Given the description of an element on the screen output the (x, y) to click on. 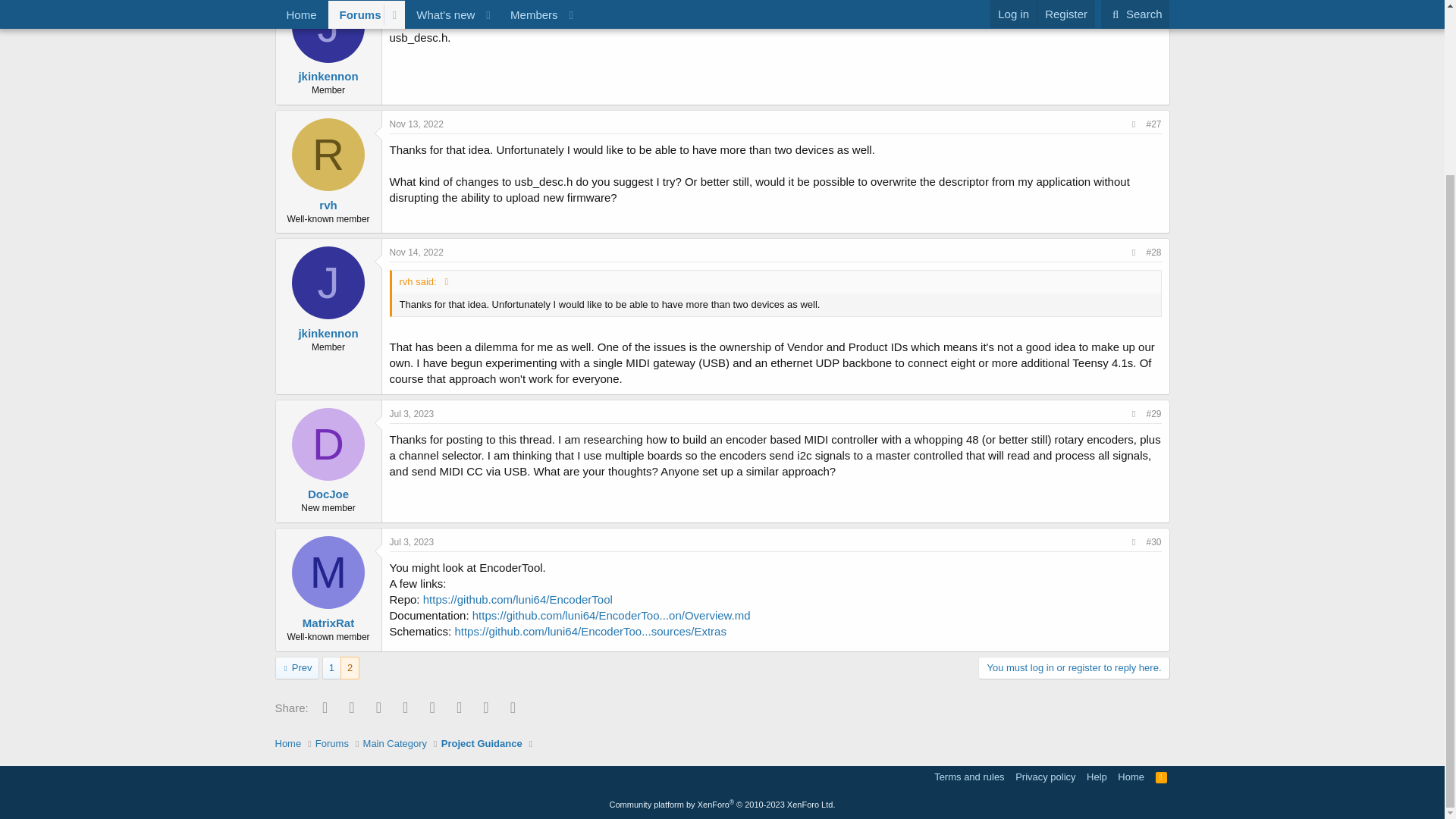
Nov 13, 2022 at 3:16 PM (417, 123)
Nov 14, 2022 at 7:44 AM (417, 252)
Nov 13, 2022 at 7:58 AM (417, 0)
Jul 3, 2023 at 3:06 AM (411, 542)
Jul 3, 2023 at 2:29 AM (411, 413)
RSS (1161, 776)
